Given the description of an element on the screen output the (x, y) to click on. 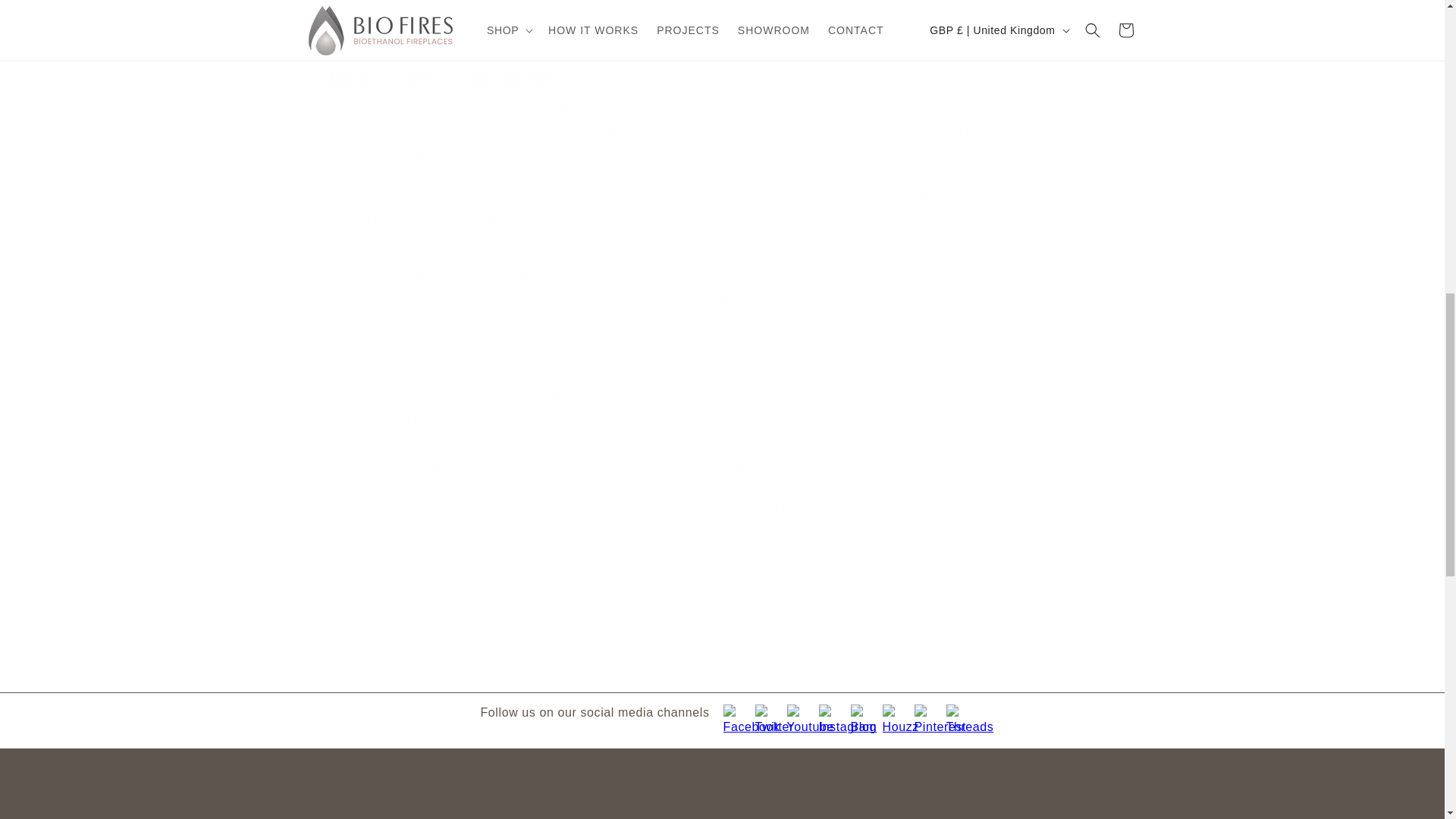
Aura Oil (398, 132)
